Given the description of an element on the screen output the (x, y) to click on. 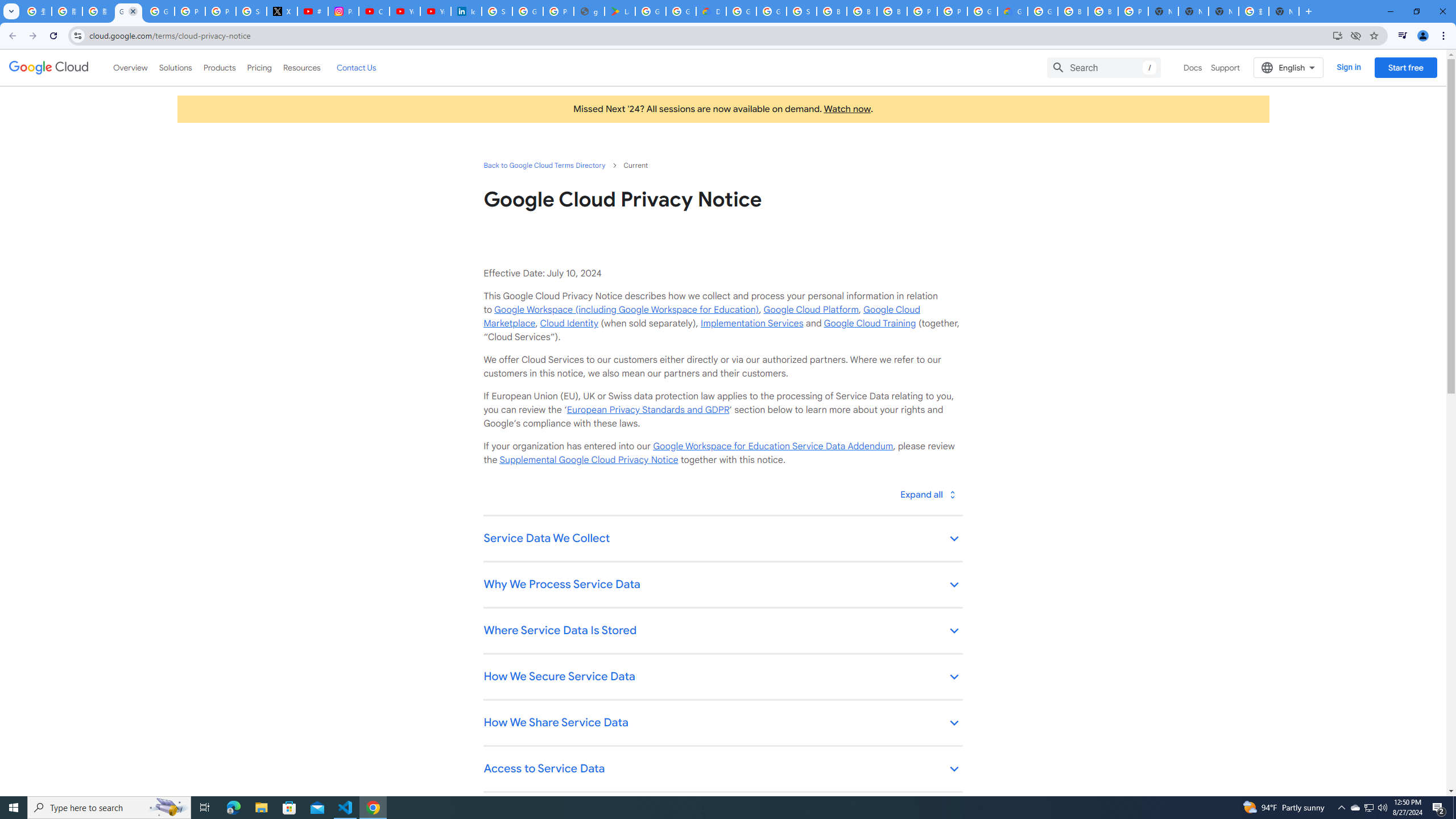
google_privacy_policy_en.pdf (589, 11)
Google Cloud Platform (810, 309)
Docs (1192, 67)
Google Cloud Platform (740, 11)
YouTube Culture & Trends - YouTube Top 10, 2021 (434, 11)
Access to Service Data keyboard_arrow_down (722, 769)
Google Cloud Platform (1042, 11)
Contact Us (355, 67)
